Given the description of an element on the screen output the (x, y) to click on. 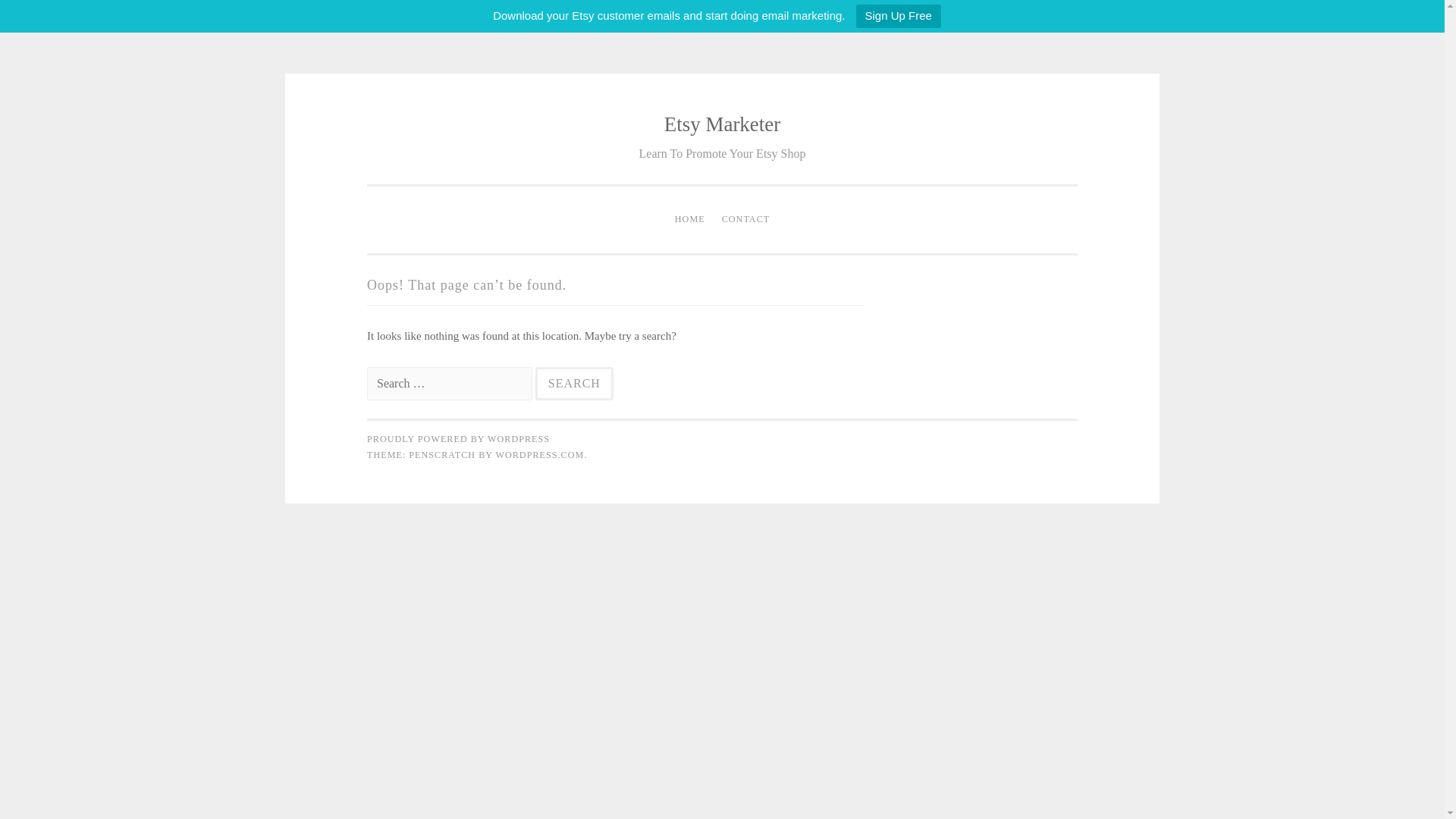
Search (573, 383)
PROUDLY POWERED BY WORDPRESS (458, 439)
Search (573, 383)
CONTACT (745, 219)
Etsy Marketer (721, 124)
Sign Up Free (898, 15)
HOME (689, 219)
Search (573, 383)
WORDPRESS.COM (539, 454)
